Given the description of an element on the screen output the (x, y) to click on. 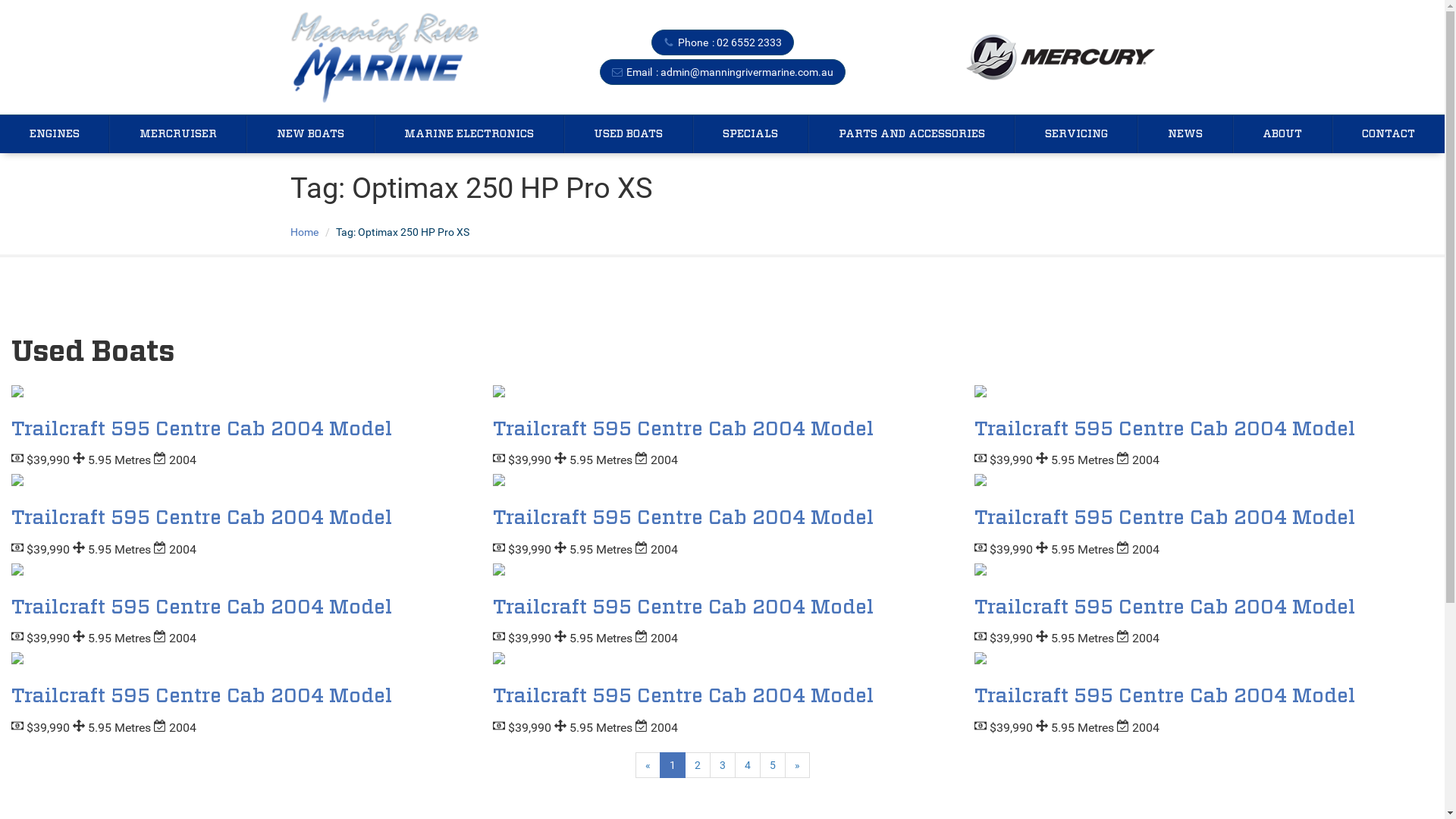
Trailcraft 595 Centre Cab 2004 Model Element type: text (1164, 429)
Trailcraft 595 Centre Cab 2004 Model Element type: text (682, 607)
USED BOATS Element type: text (628, 134)
Trailcraft 595 Centre Cab 2004 Model Element type: text (682, 696)
NEWS Element type: text (1184, 134)
Trailcraft 595 Centre Cab 2004 Model Element type: text (201, 517)
Trailcraft 595 Centre Cab 2004 Model Element type: text (1164, 696)
Home Element type: text (303, 231)
ABOUT Element type: text (1282, 134)
manning river Element type: hover (383, 57)
SERVICING Element type: text (1075, 134)
1
(current) Element type: text (672, 765)
Trailcraft 595 Centre Cab 2004 Model Element type: text (1164, 517)
MERCRUISER Element type: text (177, 134)
Trailcraft 595 Centre Cab 2004 Model Element type: text (682, 517)
CONTACT Element type: text (1388, 134)
2 Element type: text (696, 765)
ENGINES Element type: text (54, 134)
Trailcraft 595 Centre Cab 2004 Model Element type: text (682, 429)
Trailcraft 595 Centre Cab 2004 Model Element type: text (1164, 607)
admin@manningrivermarine.com.au Element type: text (745, 71)
SPECIALS Element type: text (750, 134)
02 6552 2333 Element type: text (748, 42)
4 Element type: text (746, 765)
3 Element type: text (722, 765)
Trailcraft 595 Centre Cab 2004 Model Element type: text (201, 607)
Trailcraft 595 Centre Cab 2004 Model Element type: text (201, 429)
MARINE ELECTRONICS Element type: text (469, 134)
5 Element type: text (772, 765)
Trailcraft 595 Centre Cab 2004 Model Element type: text (201, 696)
NEW BOATS Element type: text (310, 134)
PARTS AND ACCESSORIES Element type: text (911, 134)
